Given the description of an element on the screen output the (x, y) to click on. 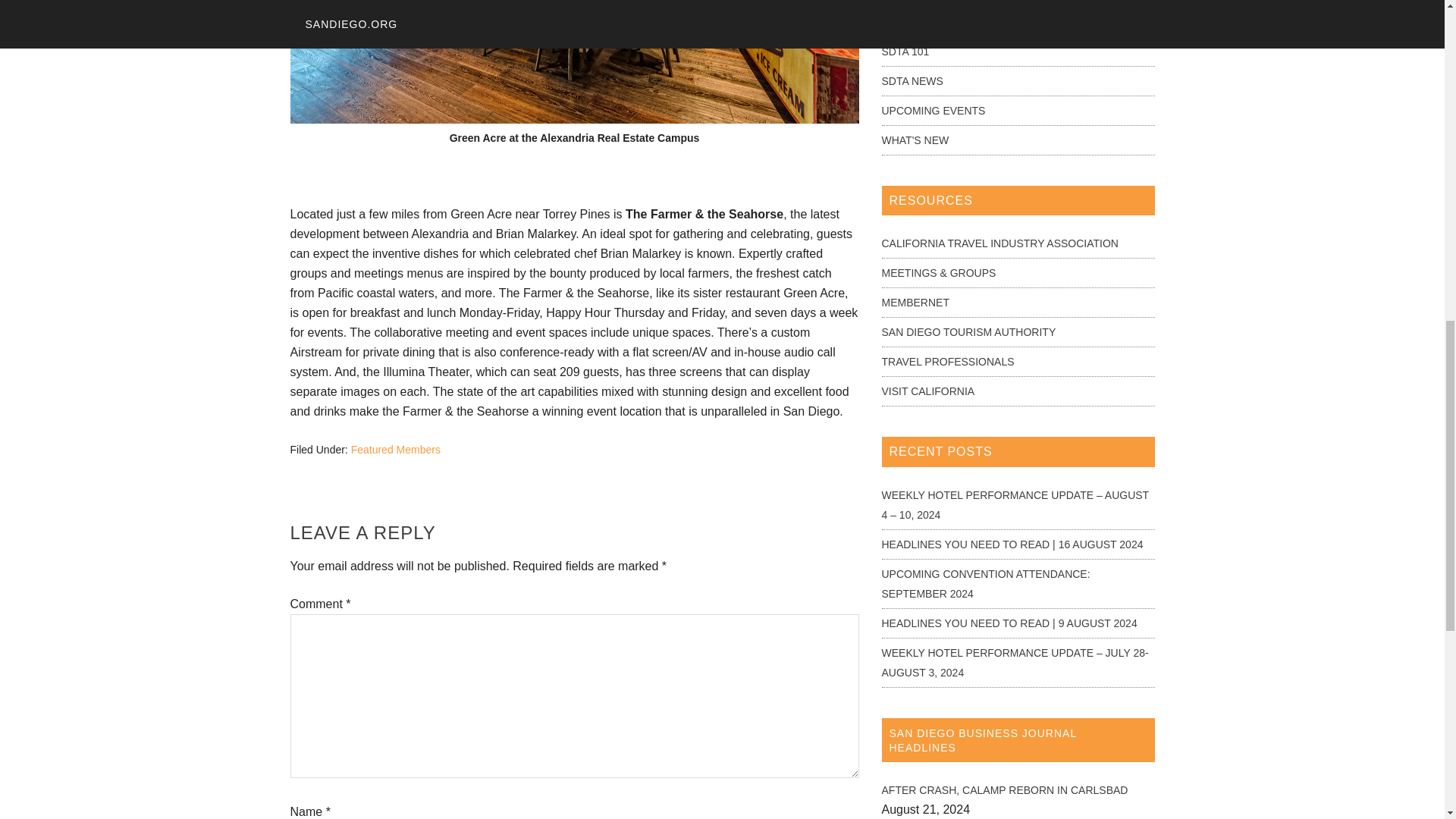
Official tourism website of the San Diego Tourism Authority (967, 331)
MEMBERNET (914, 302)
Login to MemberNet (914, 302)
SAN DIEGO TOURISM AUTHORITY (967, 331)
CALIFORNIA TRAVEL INDUSTRY ASSOCIATION (999, 243)
TRAVEL PROFESSIONALS (946, 361)
SDTA NEWS (911, 80)
Featured Members (395, 449)
UPCOMING EVENTS (932, 110)
SDTA 101 (904, 51)
